Given the description of an element on the screen output the (x, y) to click on. 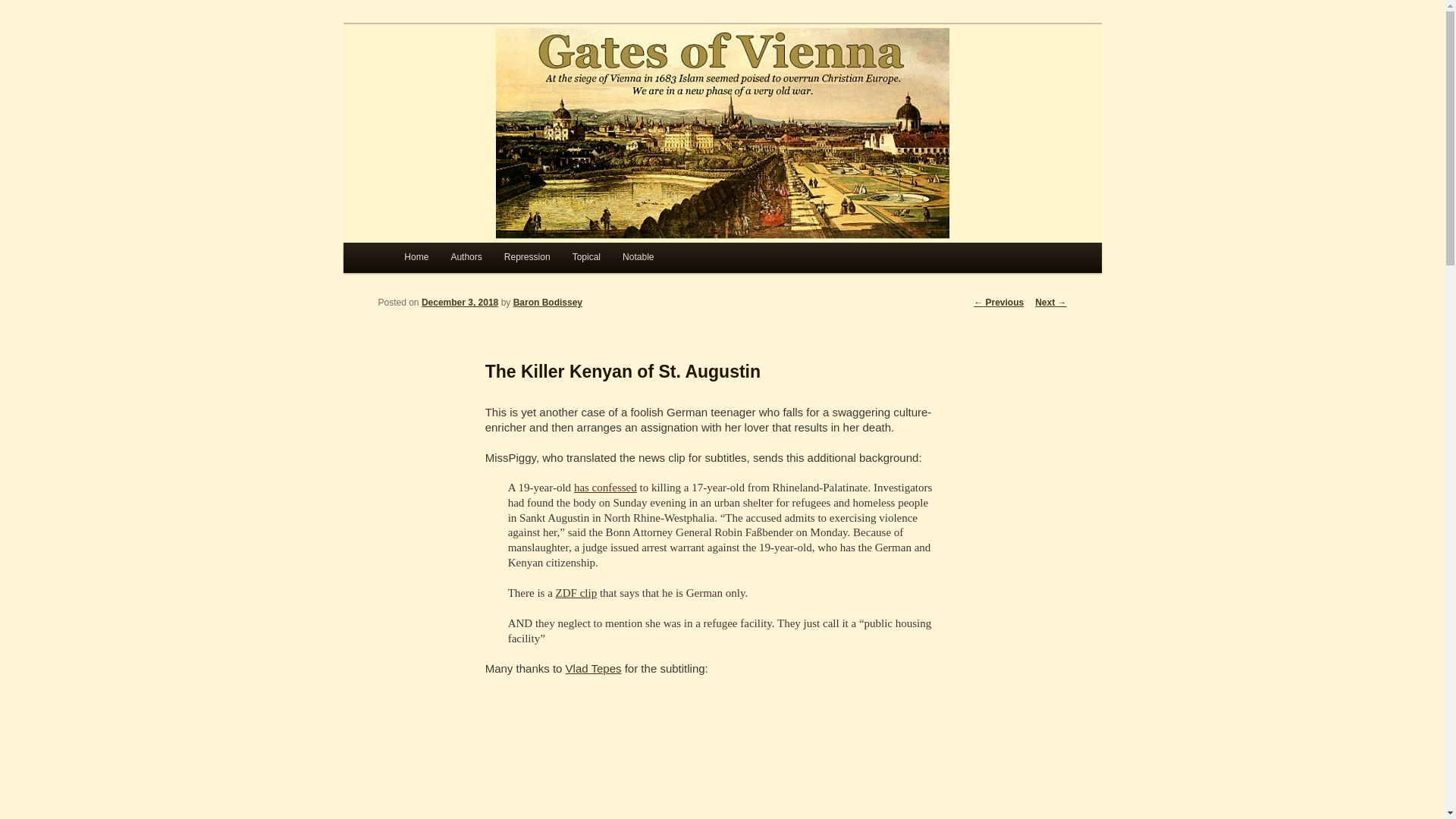
Skip to primary content (472, 261)
Repression (526, 257)
12:21 pm (459, 302)
View all posts by Baron Bodissey (547, 302)
Authors (466, 257)
Gates of Vienna (486, 78)
Skip to secondary content (479, 261)
Home (416, 257)
Gates of Vienna (486, 78)
Skip to secondary content (479, 261)
Topical (585, 257)
Skip to primary content (472, 261)
